Given the description of an element on the screen output the (x, y) to click on. 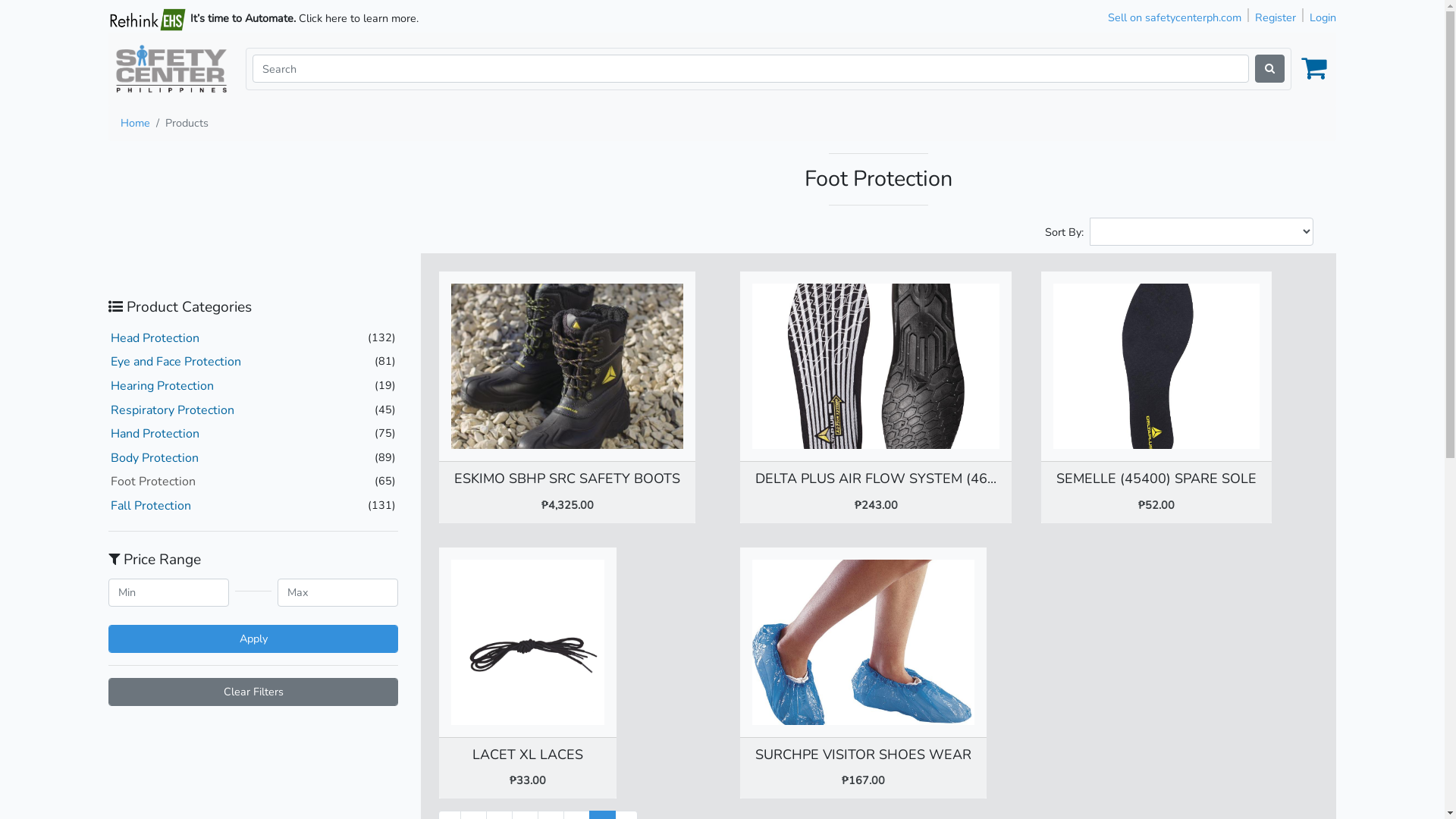
Fall Protection Element type: text (150, 505)
Sell on safetycenterph.com Element type: text (1174, 17)
Body Protection Element type: text (154, 457)
Clear Filters Element type: text (253, 691)
Respiratory Protection Element type: text (172, 409)
Hearing Protection Element type: text (161, 385)
Register Element type: text (1275, 17)
Head Protection Element type: text (154, 337)
LACET XL LACES Element type: text (527, 754)
ESKIMO SBHP SRC SAFETY BOOTS Element type: text (567, 478)
Login Element type: text (1322, 17)
SEMELLE (45400) SPARE SOLE Element type: text (1156, 478)
Apply Element type: text (253, 638)
Click here to learn more. Element type: text (358, 17)
SURCHPE VISITOR SHOES WEAR Element type: text (863, 754)
Foot Protection Element type: text (152, 481)
Hand Protection Element type: text (154, 433)
Home Element type: text (135, 122)
Eye and Face Protection Element type: text (175, 361)
DELTA PLUS AIR FLOW SYSTEM (46... Element type: text (875, 478)
